Given the description of an element on the screen output the (x, y) to click on. 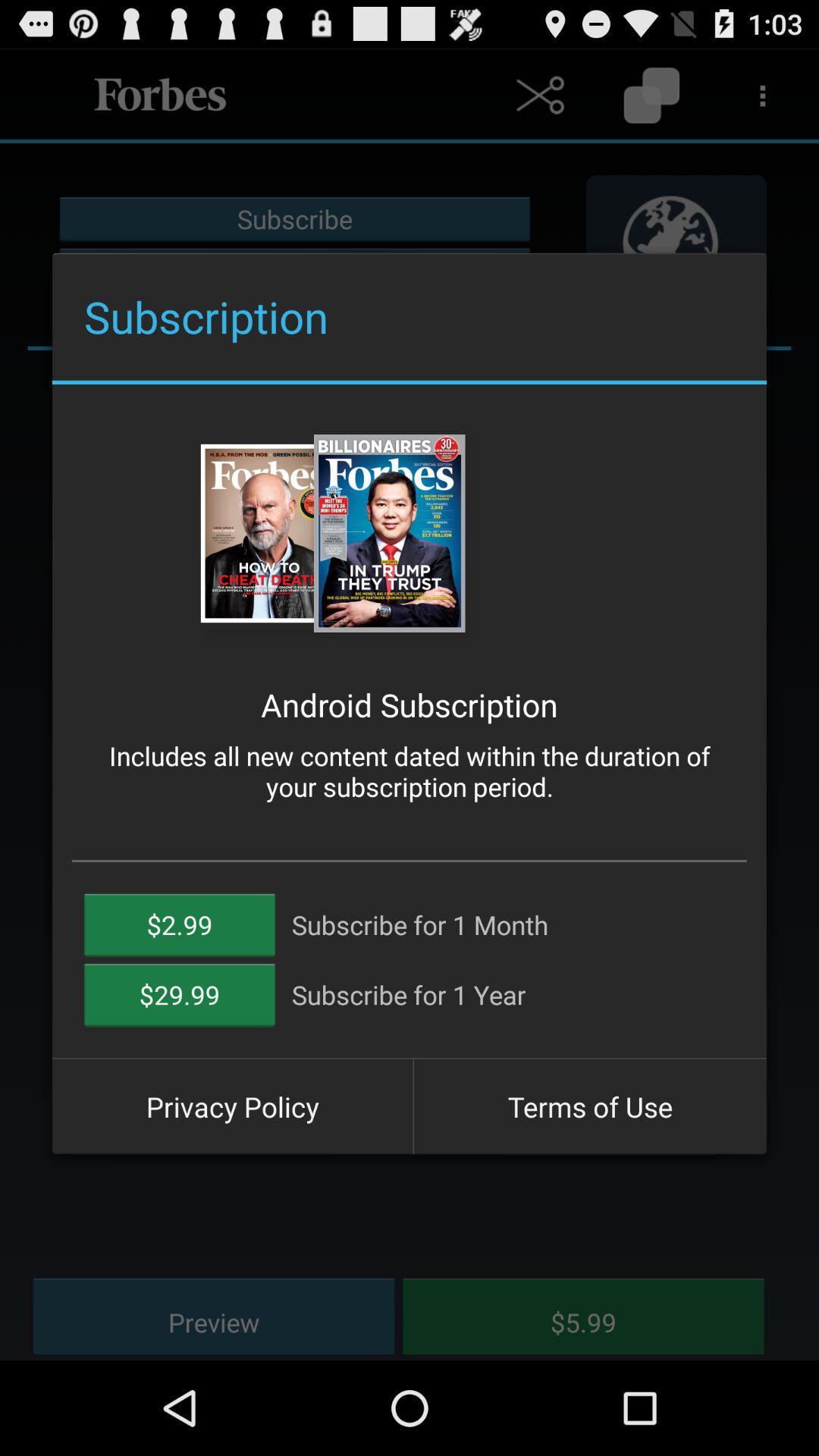
choose item below subscribe for 1 icon (590, 1106)
